Given the description of an element on the screen output the (x, y) to click on. 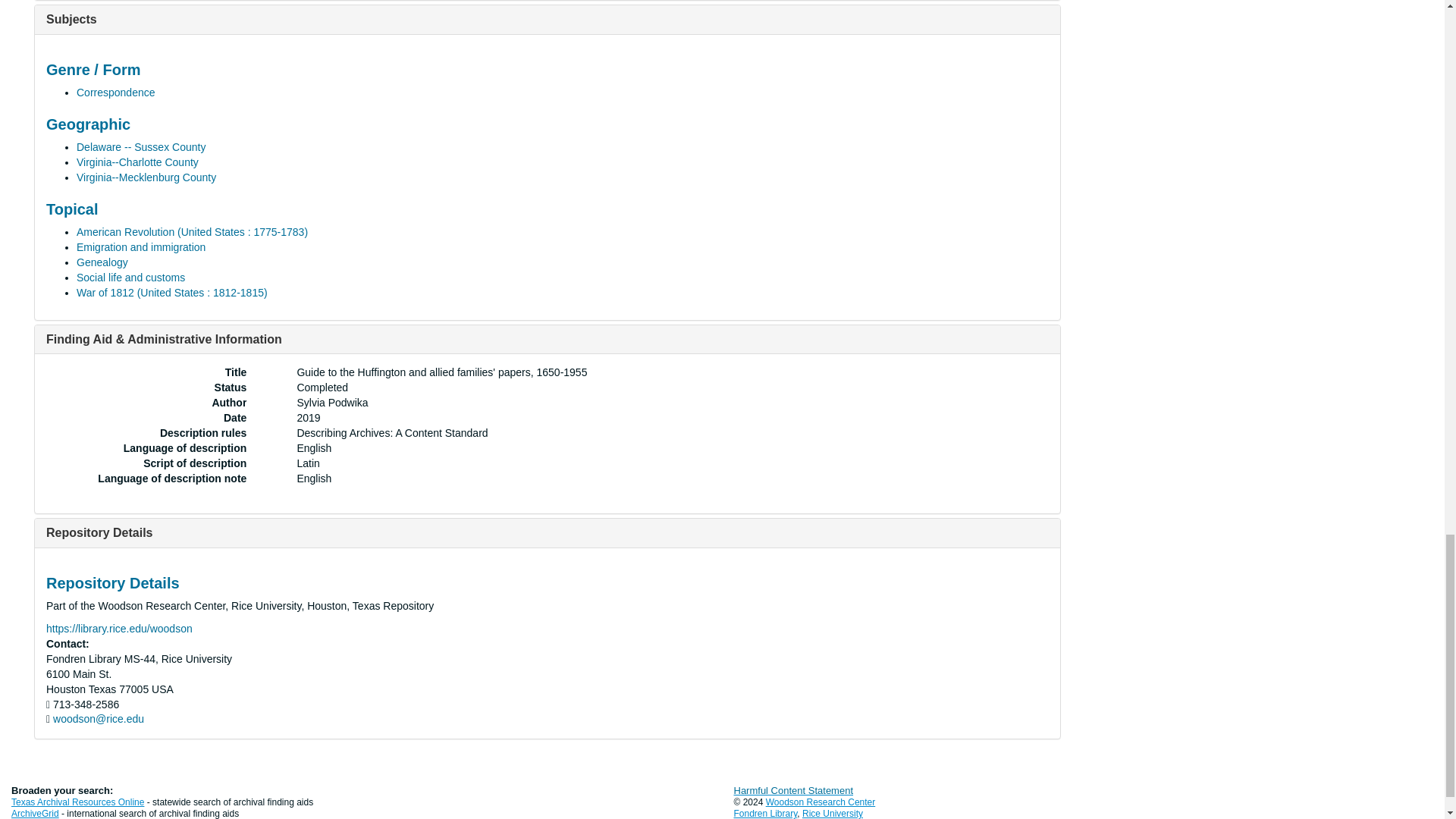
Send email (98, 718)
Correspondence (116, 92)
Subjects (71, 19)
